Given the description of an element on the screen output the (x, y) to click on. 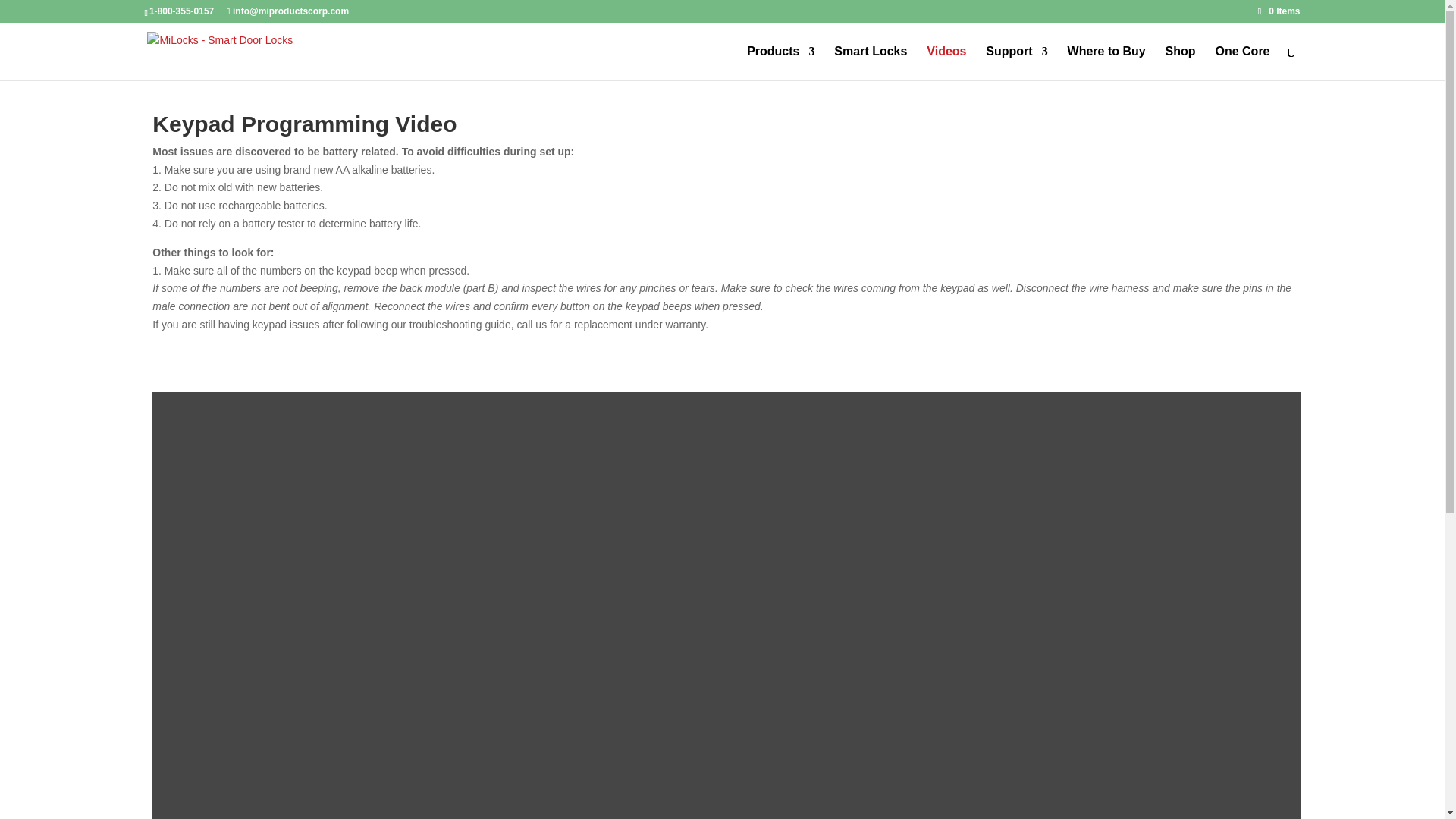
Products (779, 62)
Videos (946, 62)
One Core (1241, 62)
0 Items (1278, 10)
Where to Buy (1106, 62)
1-800-355-0157 (181, 10)
Smart Locks (870, 62)
Support (1015, 62)
